Given the description of an element on the screen output the (x, y) to click on. 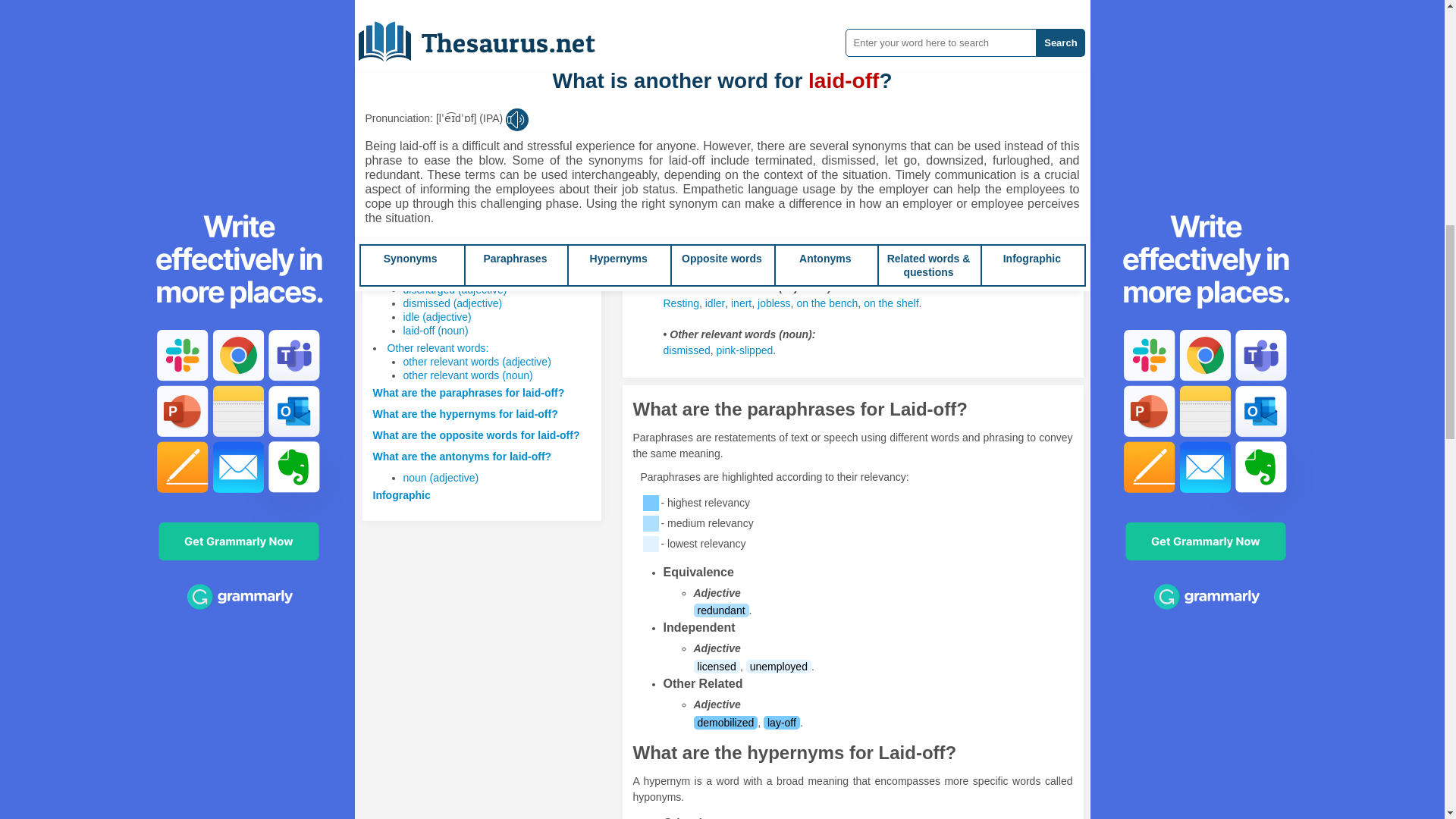
Synonyms for Laid-off (936, 28)
sent away (746, 28)
axed (970, 28)
Synonyms for Laid-off (689, 28)
freed (674, 44)
Furloughed (689, 28)
Synonyms for Laid-off (873, 138)
let go (706, 44)
Other relevant words: (437, 347)
Synonyms for Laid-off (788, 44)
What are the antonyms for laid-off? (461, 456)
Synonyms for Laid-off (835, 44)
Synonyms for Laid-off (1005, 28)
Infographic (401, 494)
What are the opposite words for laid-off? (475, 435)
